Given the description of an element on the screen output the (x, y) to click on. 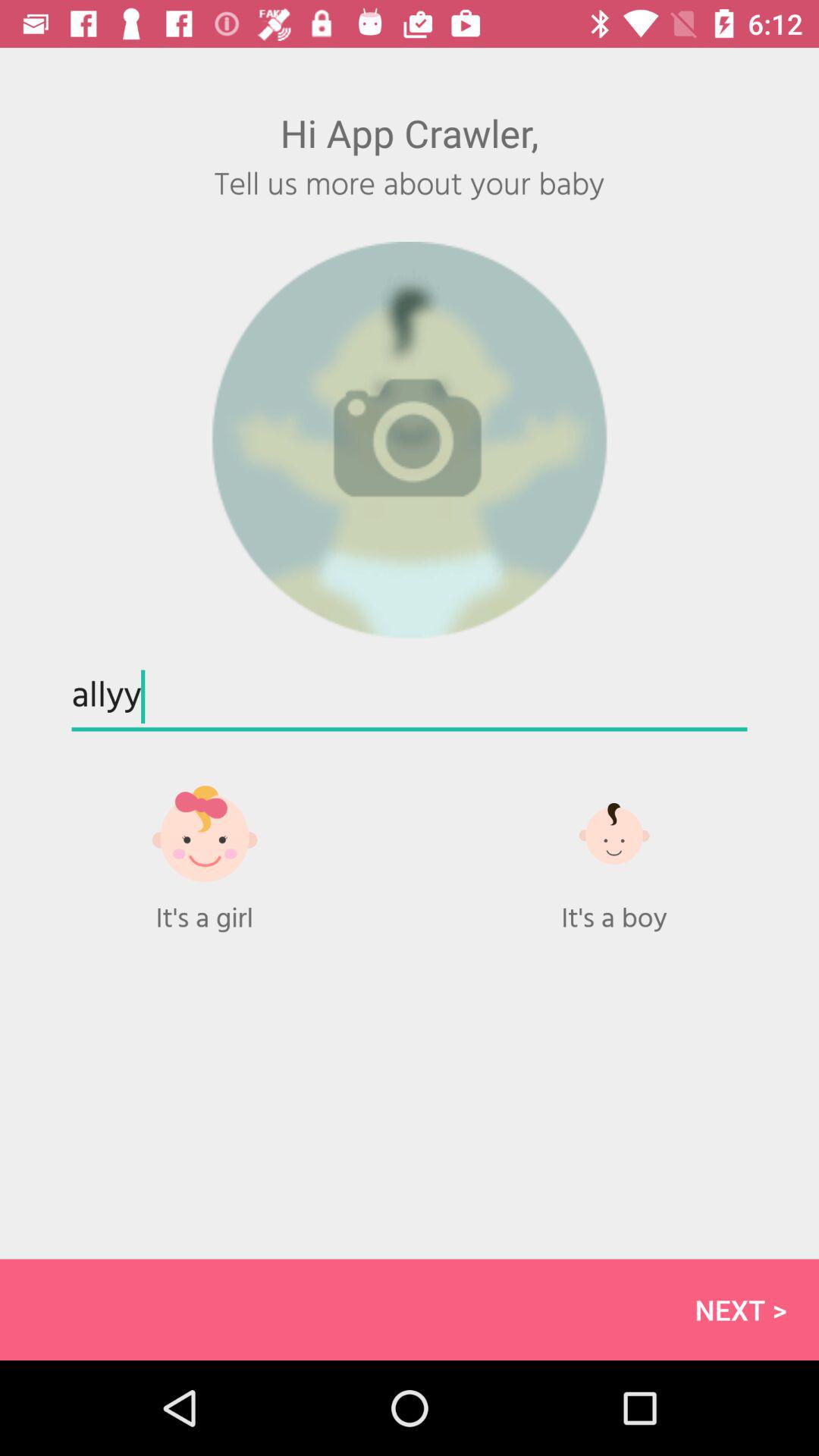
its a girl button (204, 849)
